Given the description of an element on the screen output the (x, y) to click on. 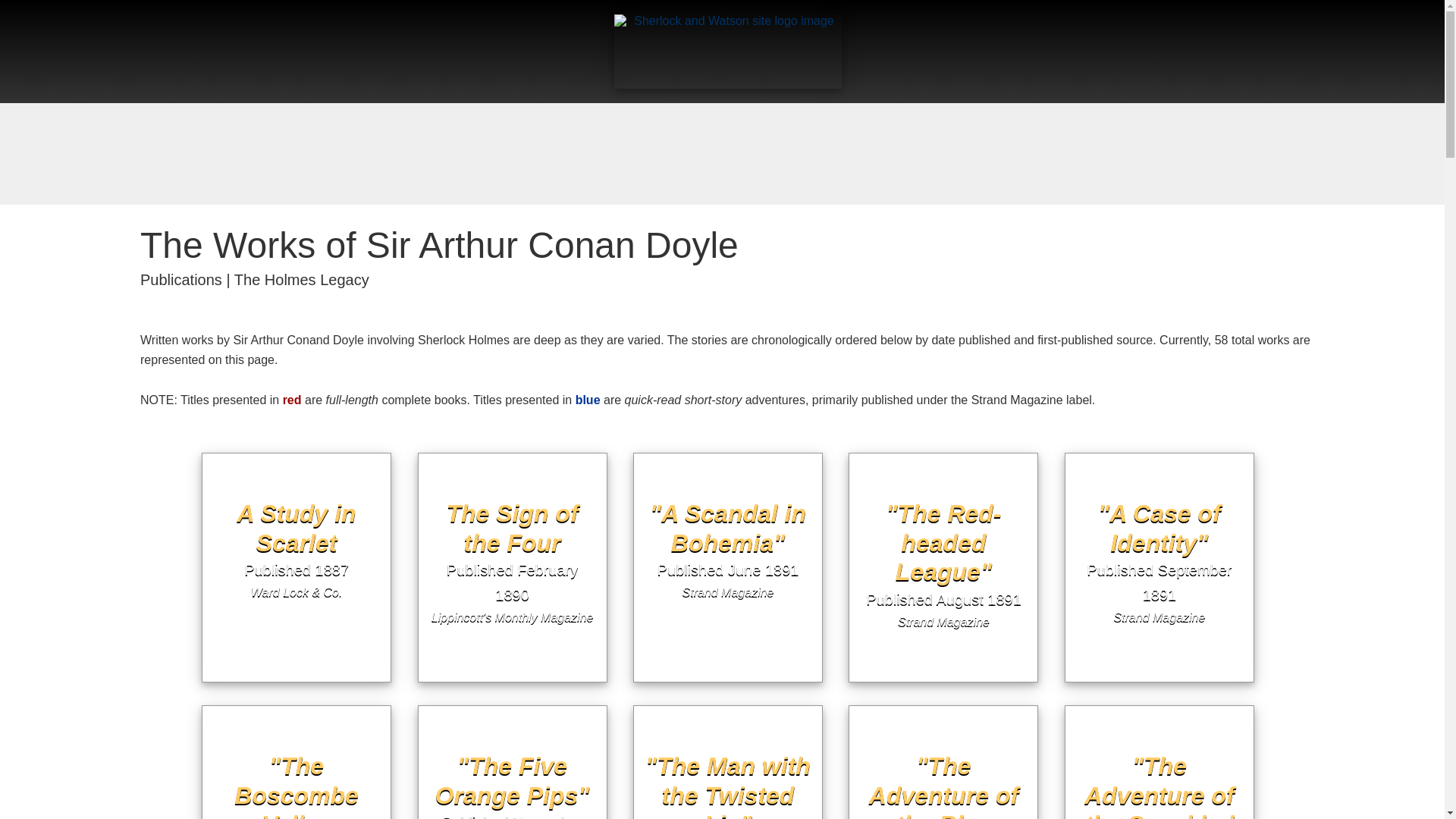
The Man with the Twisted Lip text (727, 699)
The Red-Headed League text (727, 447)
A Scandal in Bohemia text (943, 447)
The Sign of the Four text (727, 447)
A Case of Idenity text (512, 447)
